Given the description of an element on the screen output the (x, y) to click on. 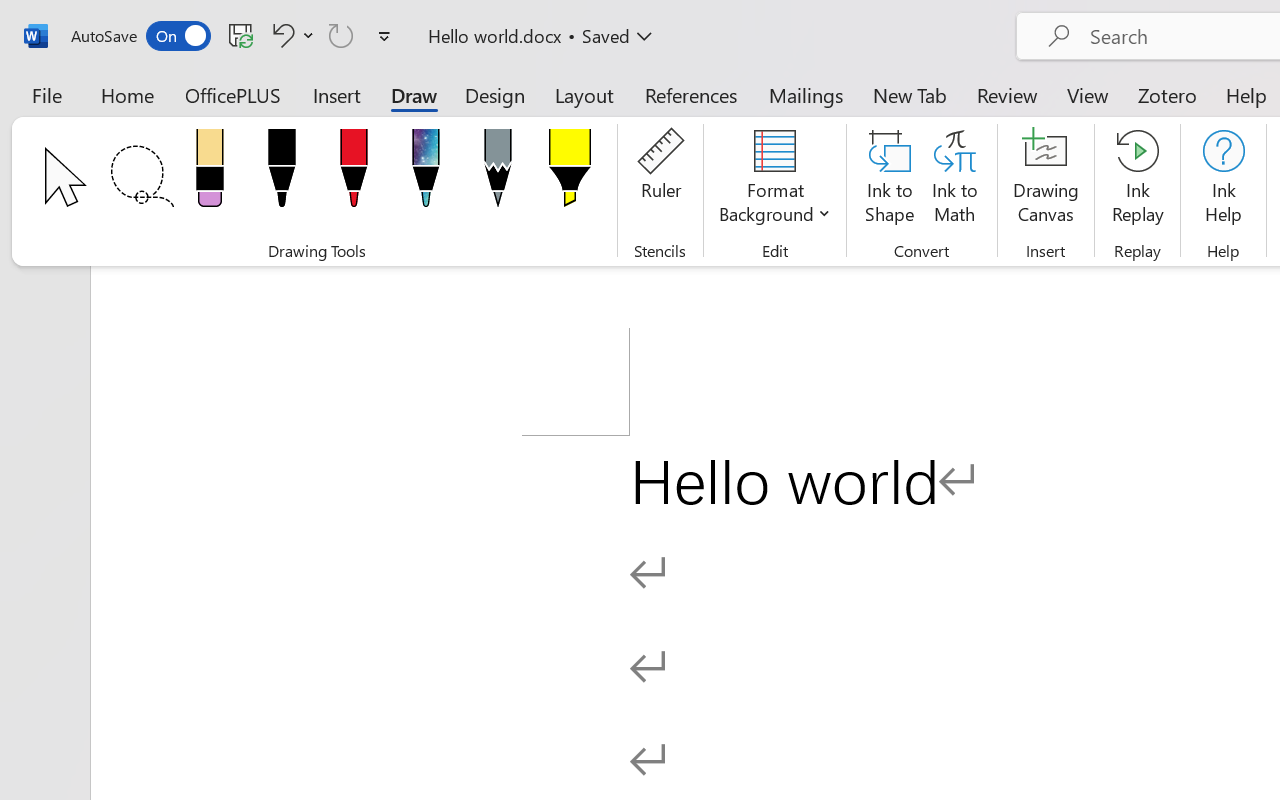
Home (127, 94)
References (690, 94)
View (1087, 94)
Ink Replay (1137, 179)
Ink to Math (954, 179)
Pen: Galaxy, 1 mm (426, 173)
Undo Click and Type Formatting (280, 35)
Draw (413, 94)
Pen: Red, 0.5 mm (353, 173)
